Given the description of an element on the screen output the (x, y) to click on. 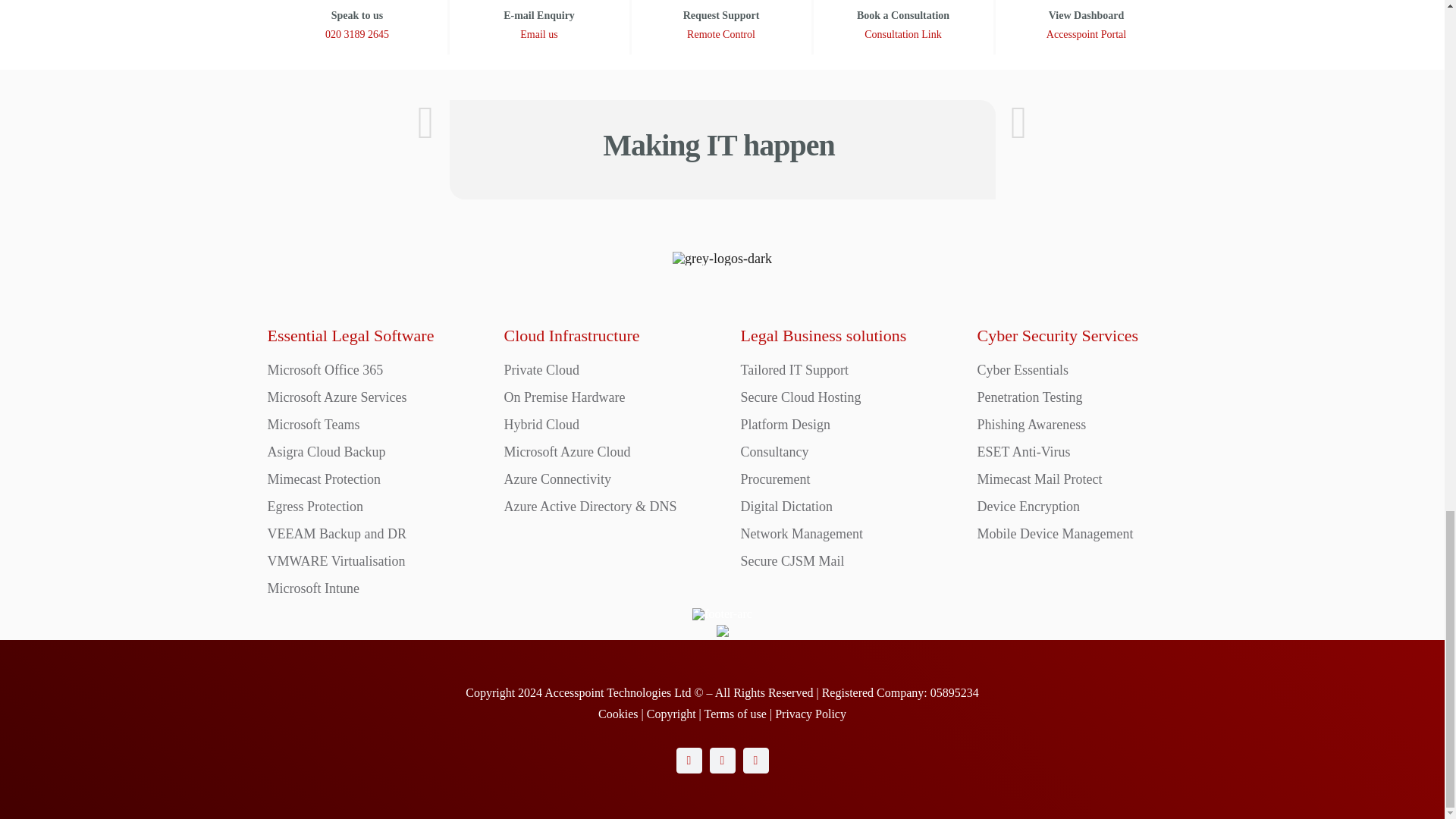
Twitter (722, 760)
LinkedIn (755, 760)
grey-logos-dark (721, 258)
footer-arc (722, 613)
Facebook (689, 760)
